Given the description of an element on the screen output the (x, y) to click on. 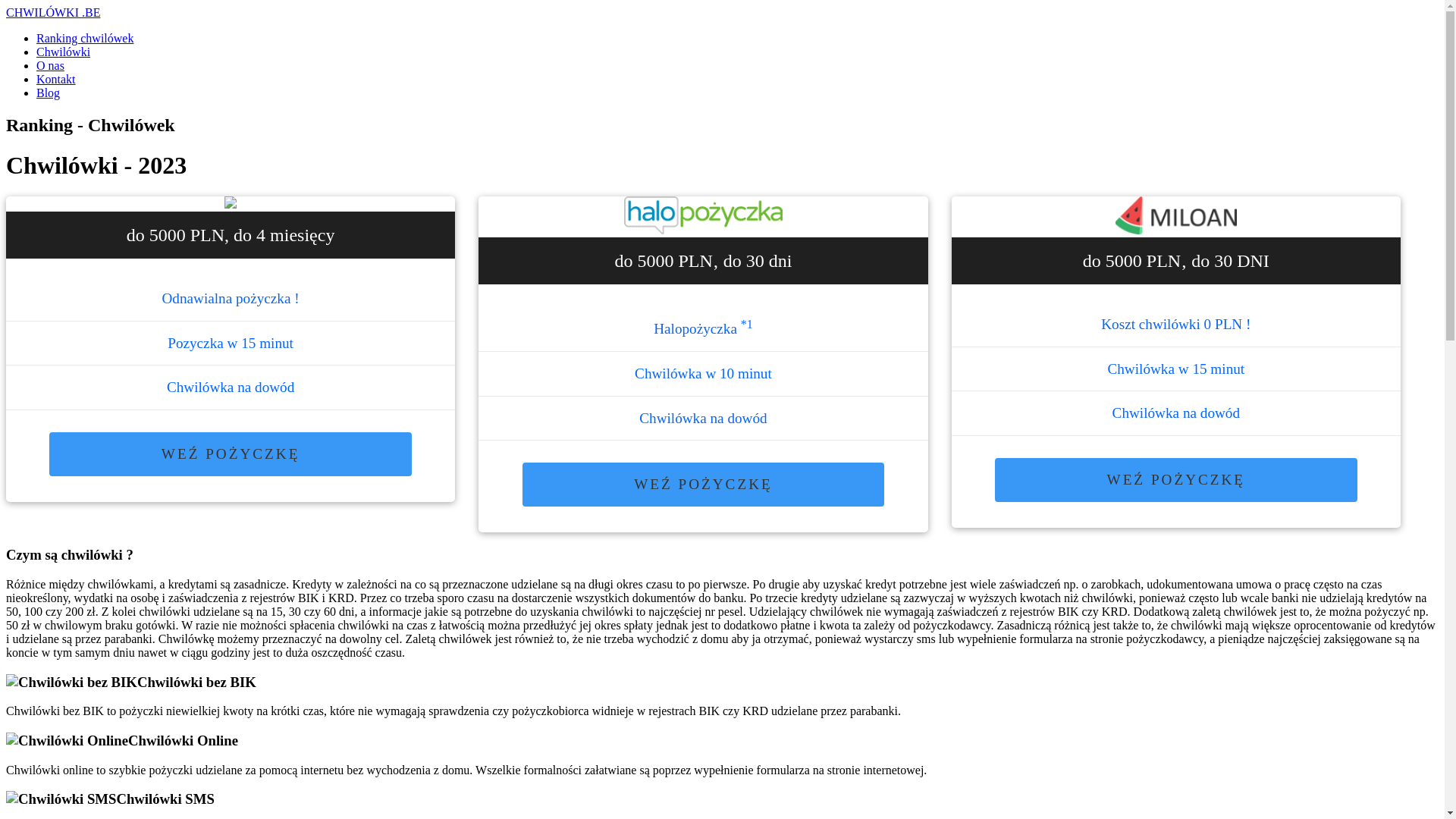
Kontakt Element type: text (55, 78)
O nas Element type: text (50, 65)
Blog Element type: text (47, 92)
